Given the description of an element on the screen output the (x, y) to click on. 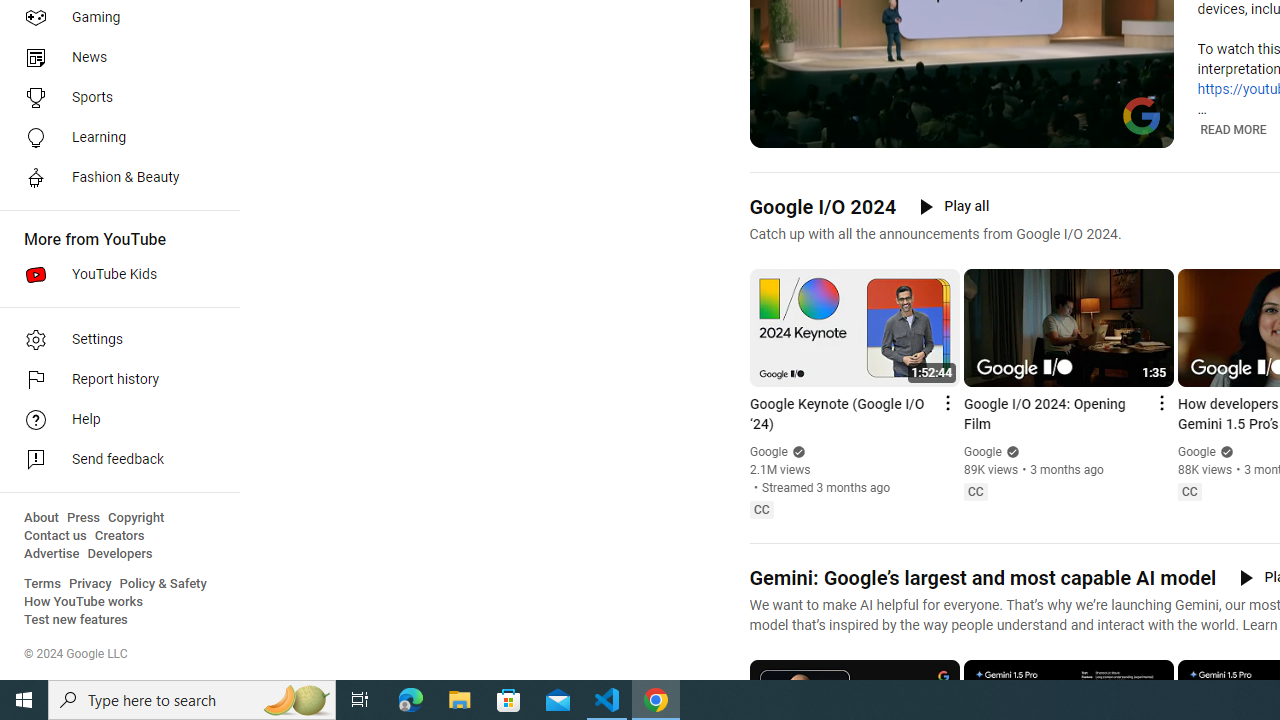
Channel watermark (1141, 115)
Learning (113, 137)
Contact us (55, 536)
Type here to search (191, 699)
Report history (113, 380)
Google Chrome - 1 running window (656, 699)
How YouTube works (83, 602)
Press (83, 518)
News (113, 57)
Send feedback (113, 459)
About (41, 518)
READ MORE (1232, 129)
Sports (113, 97)
Google I/O 2024 (822, 206)
